Given the description of an element on the screen output the (x, y) to click on. 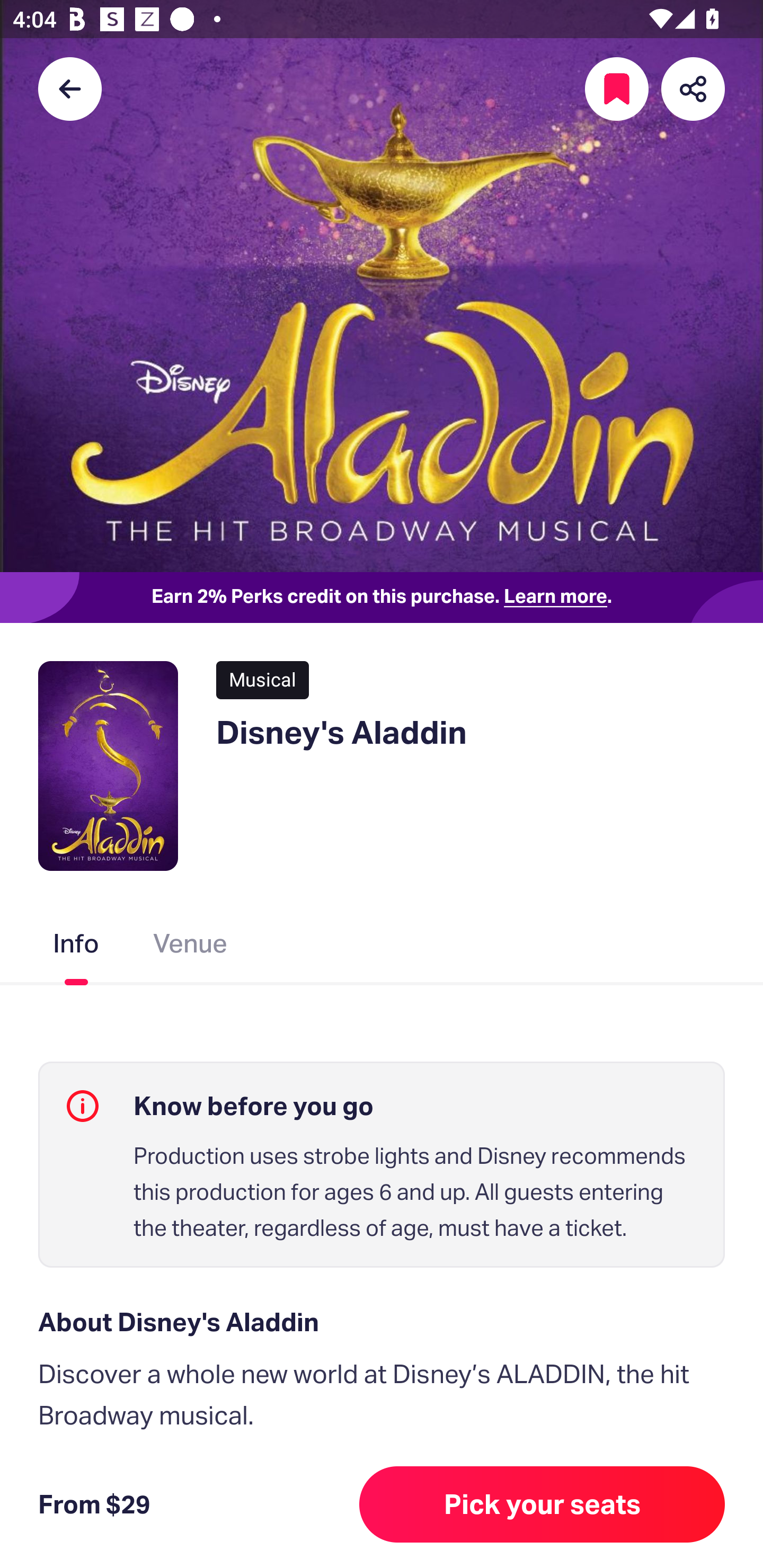
Earn 2% Perks credit on this purchase. Learn more. (381, 597)
Venue (190, 946)
About Disney's Aladdin (381, 1322)
Pick your seats (541, 1504)
